Given the description of an element on the screen output the (x, y) to click on. 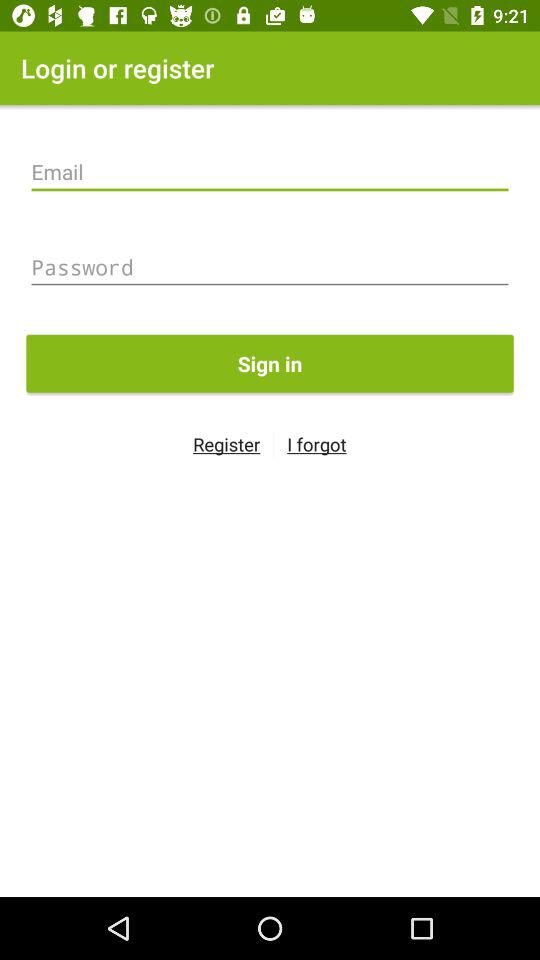
swipe until the sign in item (269, 363)
